Given the description of an element on the screen output the (x, y) to click on. 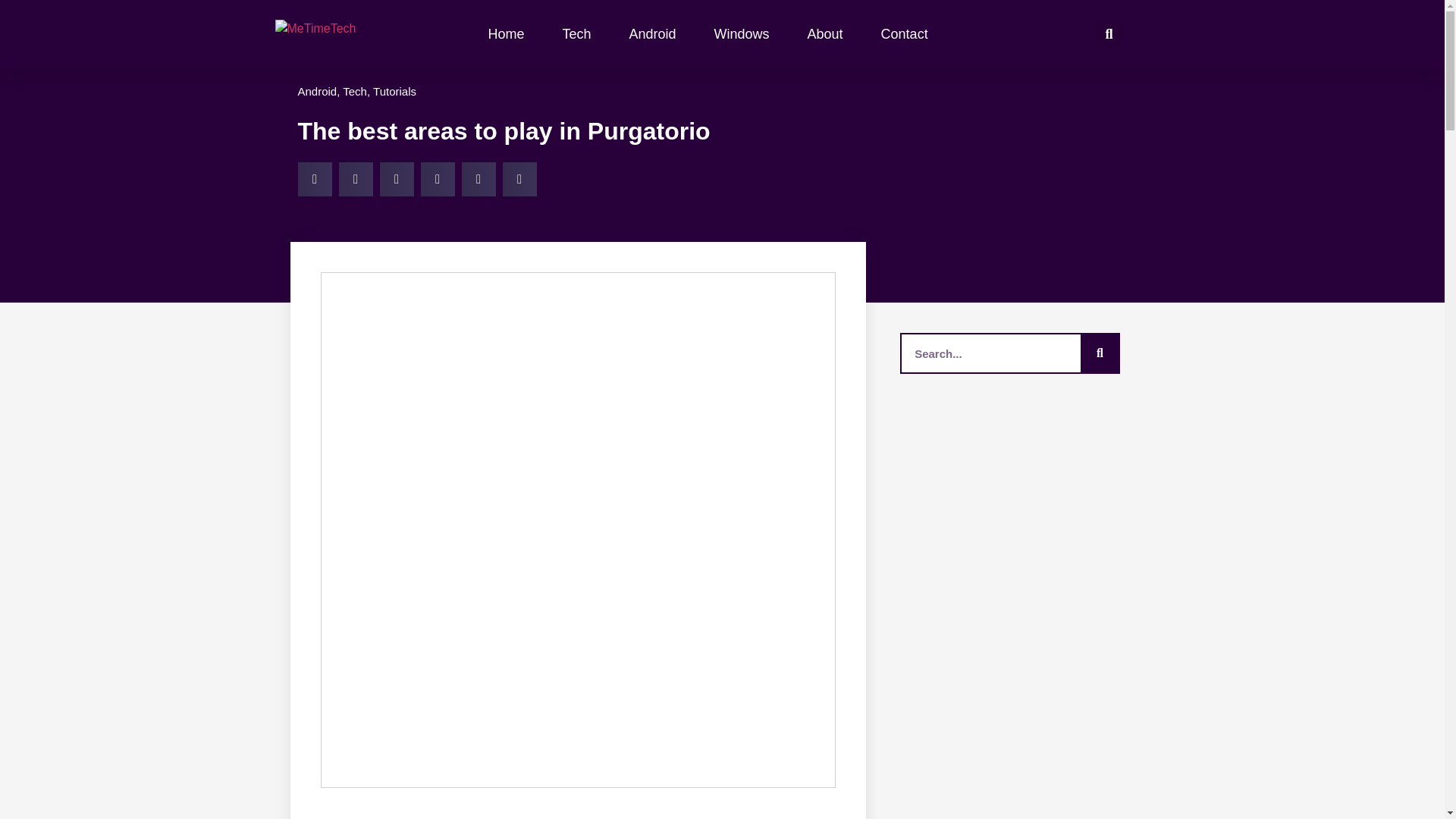
Windows (742, 33)
Tutorials (394, 91)
Search (990, 353)
Android (316, 91)
Search (1099, 353)
Tech (354, 91)
